Given the description of an element on the screen output the (x, y) to click on. 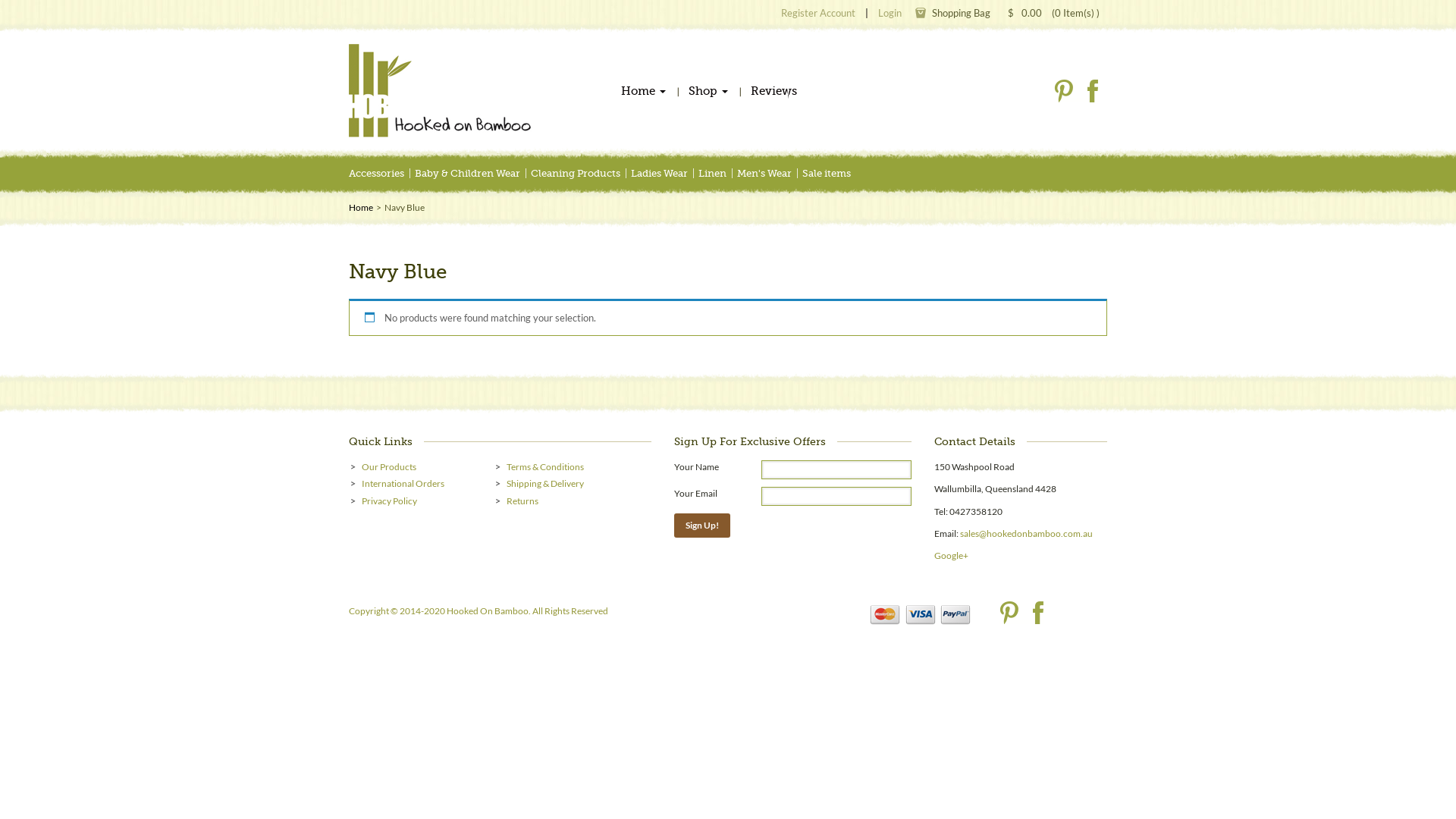
sales@hookedonbamboo.com.au Element type: text (1026, 533)
Login Element type: text (889, 12)
Sale items Element type: text (826, 173)
Baby & Children Wear Element type: text (467, 173)
Register Account Element type: text (818, 12)
Returns Element type: text (522, 500)
Home Element type: text (643, 93)
Linen Element type: text (712, 173)
Privacy Policy Element type: text (389, 500)
Shipping & Delivery Element type: text (544, 483)
Terms & Conditions Element type: text (544, 466)
Cleaning Products Element type: text (575, 173)
Shop Element type: text (708, 93)
Men's Wear Element type: text (764, 173)
International Orders Element type: text (402, 483)
Ladies Wear Element type: text (658, 173)
Our Products Element type: text (388, 466)
Reviews Element type: text (773, 93)
Google+ Element type: text (951, 555)
Home Element type: text (360, 207)
Shopping Bag $0.00 (0 Item(s) ) Element type: text (1007, 12)
Accessories Element type: text (376, 173)
Sign Up! Element type: text (702, 525)
